Given the description of an element on the screen output the (x, y) to click on. 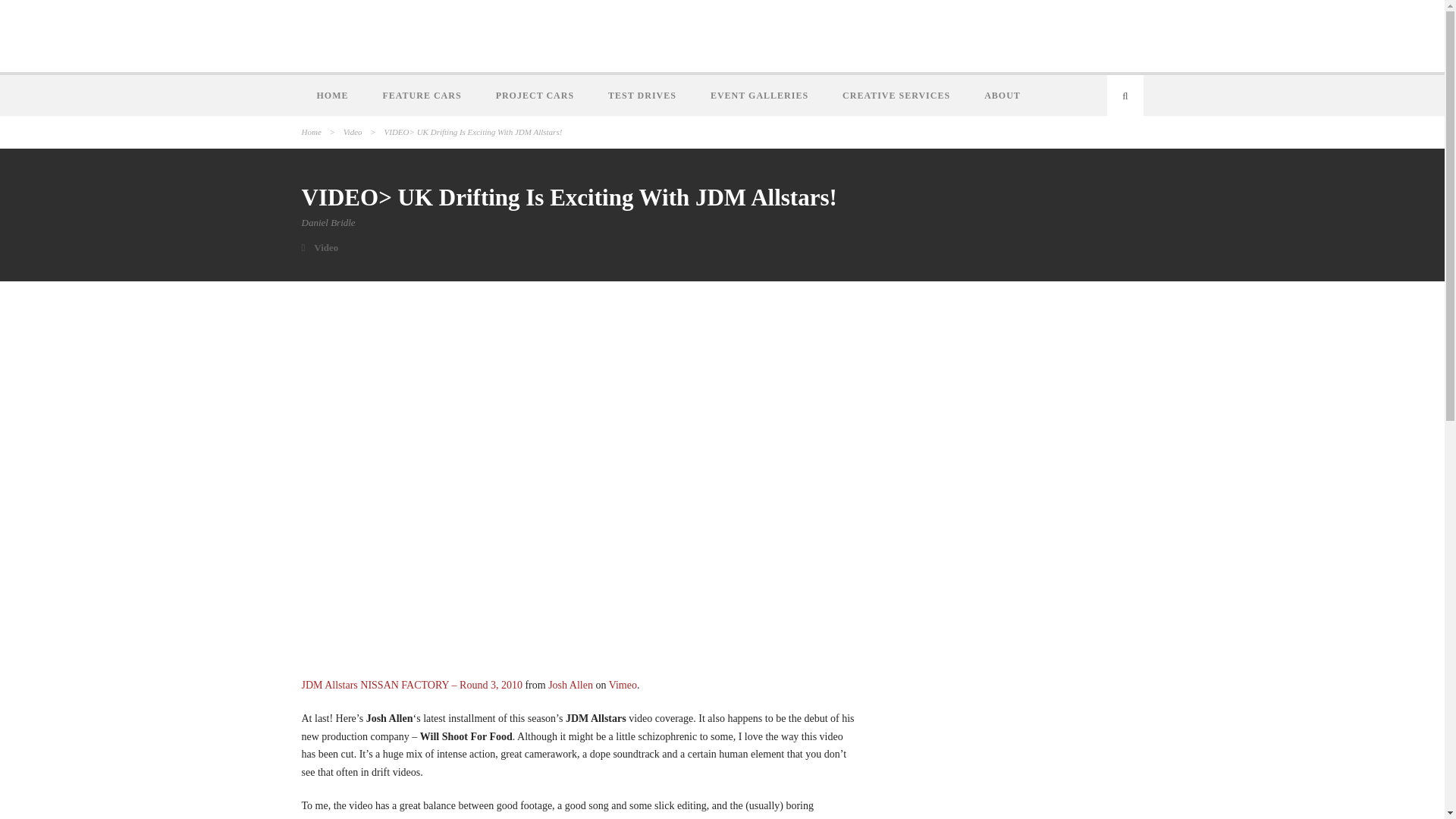
Josh Allen (570, 685)
TEST DRIVES (643, 95)
Video (325, 247)
Posts by Daniel Bridle (328, 222)
ABOUT (1004, 95)
Daniel Bridle (328, 222)
Video (352, 131)
Home (311, 131)
EVENT GALLERIES (761, 95)
PROJECT CARS (536, 95)
